Given the description of an element on the screen output the (x, y) to click on. 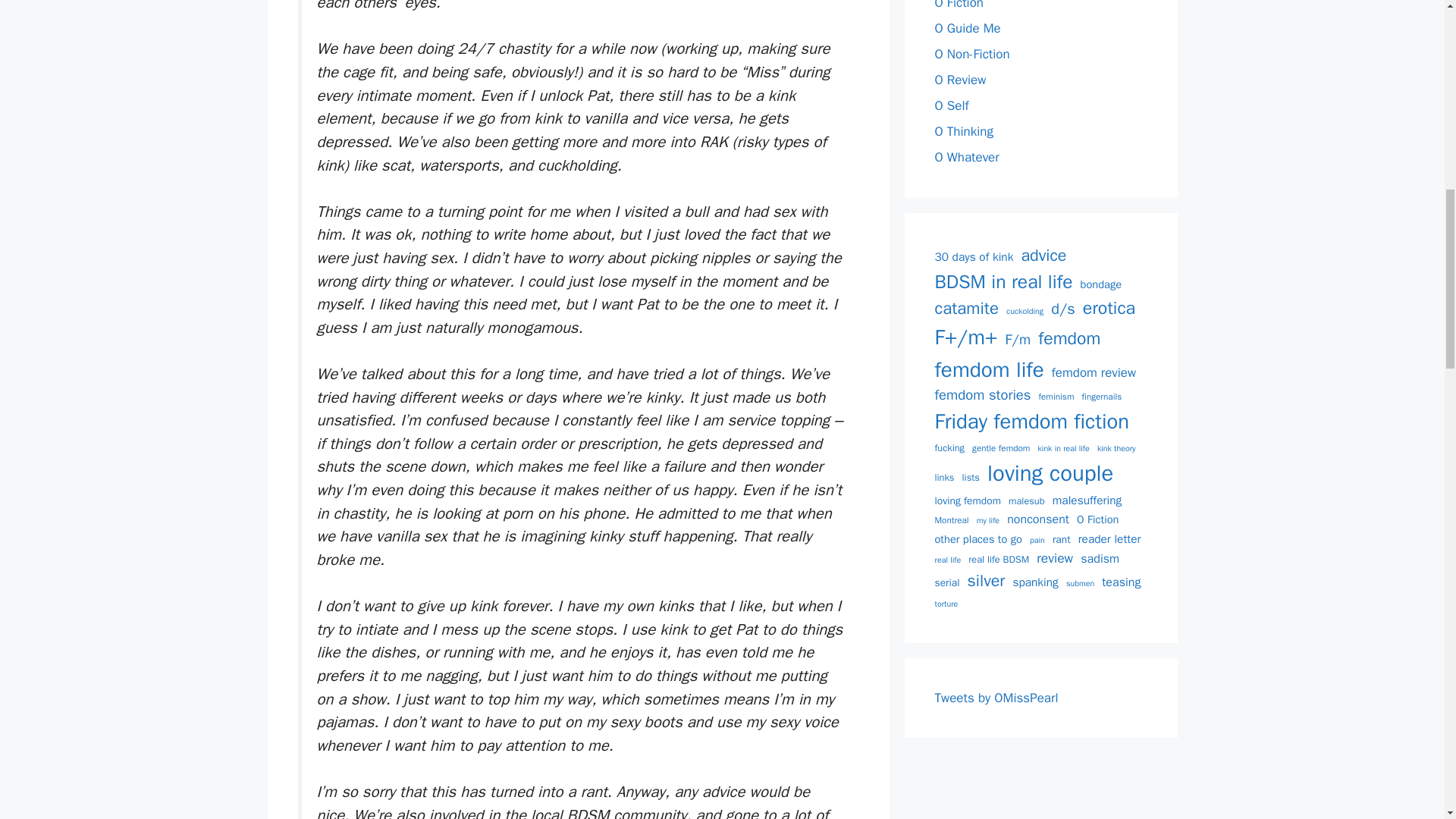
O Review (959, 79)
advice (1042, 255)
O Thinking (963, 131)
BDSM in real life (1002, 281)
O Fiction (959, 5)
30 days of kink (973, 257)
O Whatever (966, 157)
O Non-Fiction (971, 53)
cuckolding (1024, 311)
catamite (965, 308)
